Given the description of an element on the screen output the (x, y) to click on. 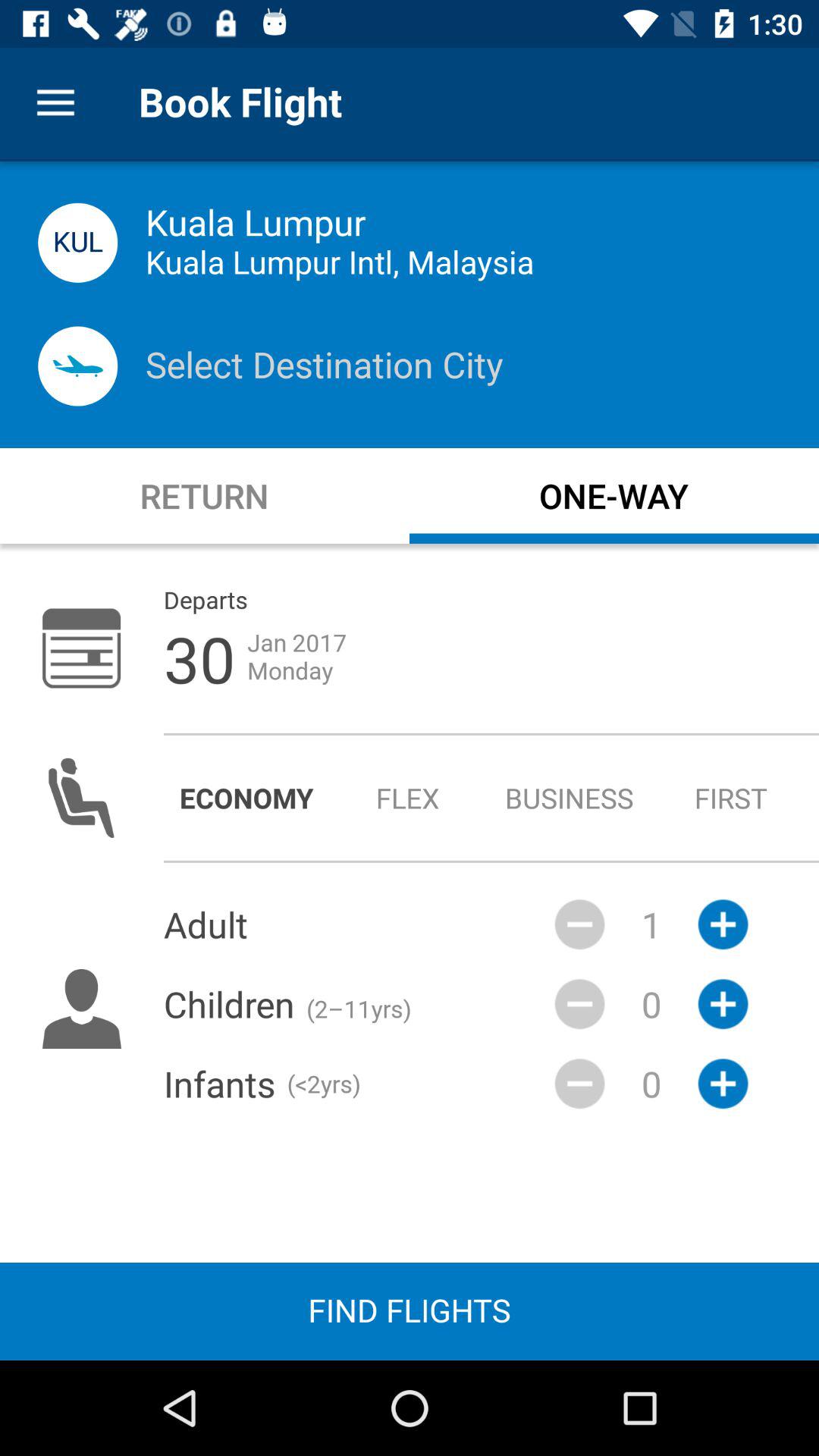
press the first (731, 797)
